Given the description of an element on the screen output the (x, y) to click on. 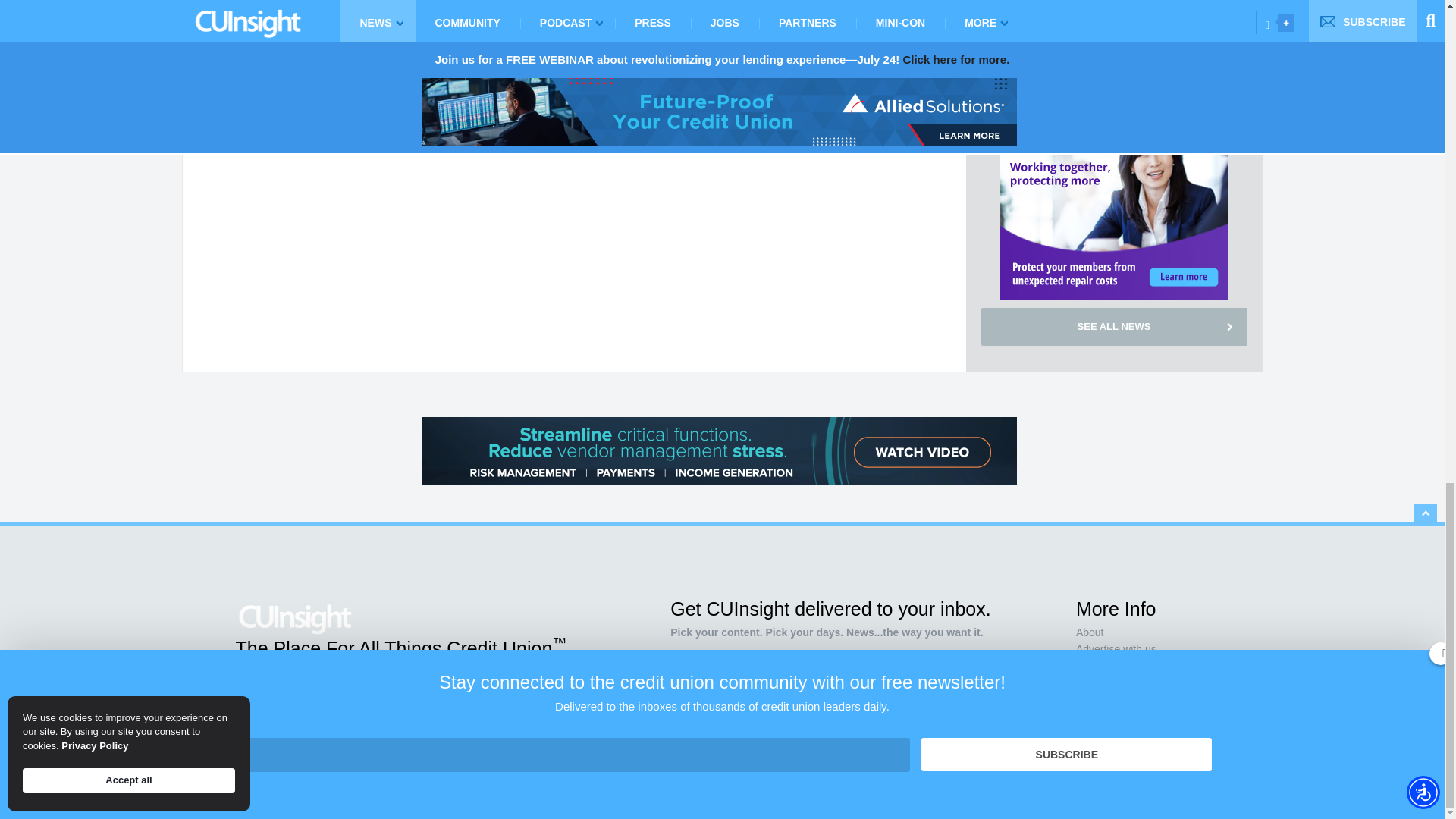
Subscribe (909, 716)
